Given the description of an element on the screen output the (x, y) to click on. 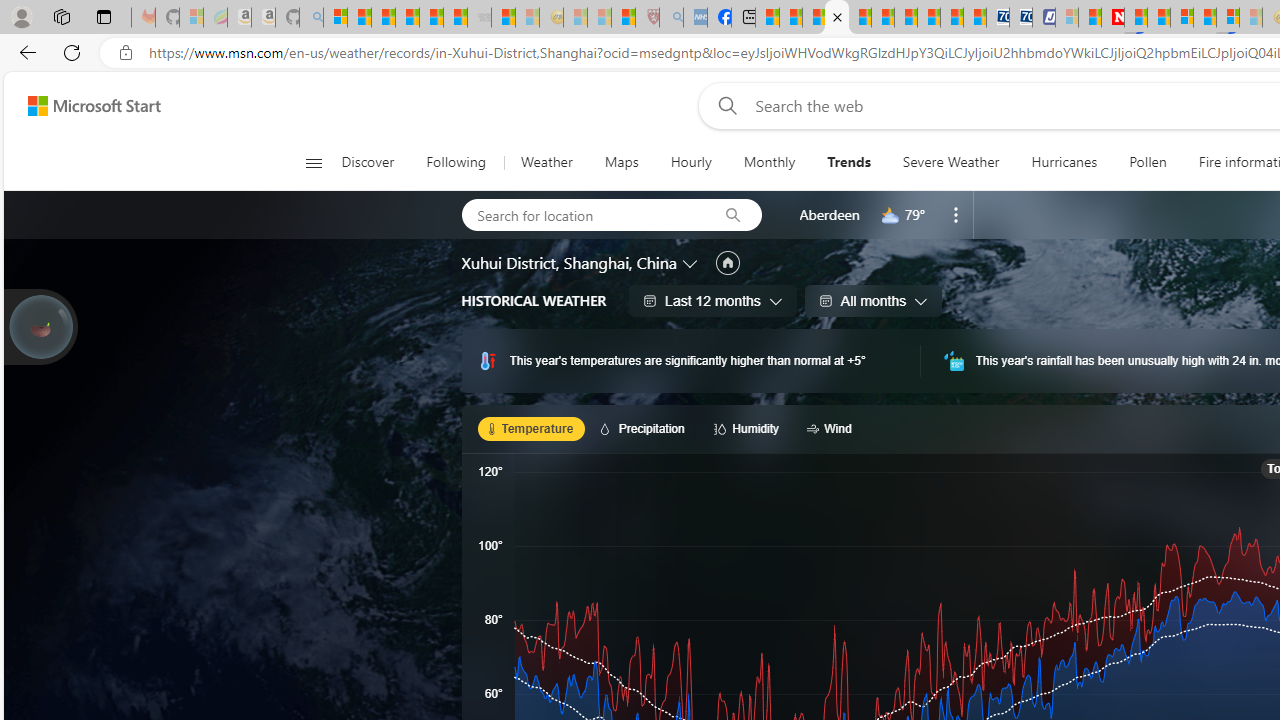
Cheap Hotels - Save70.com (1020, 17)
Latest Politics News & Archive | Newsweek.com (1112, 17)
Maps (621, 162)
Combat Siege - Sleeping (479, 17)
Set as primary location (727, 263)
